Given the description of an element on the screen output the (x, y) to click on. 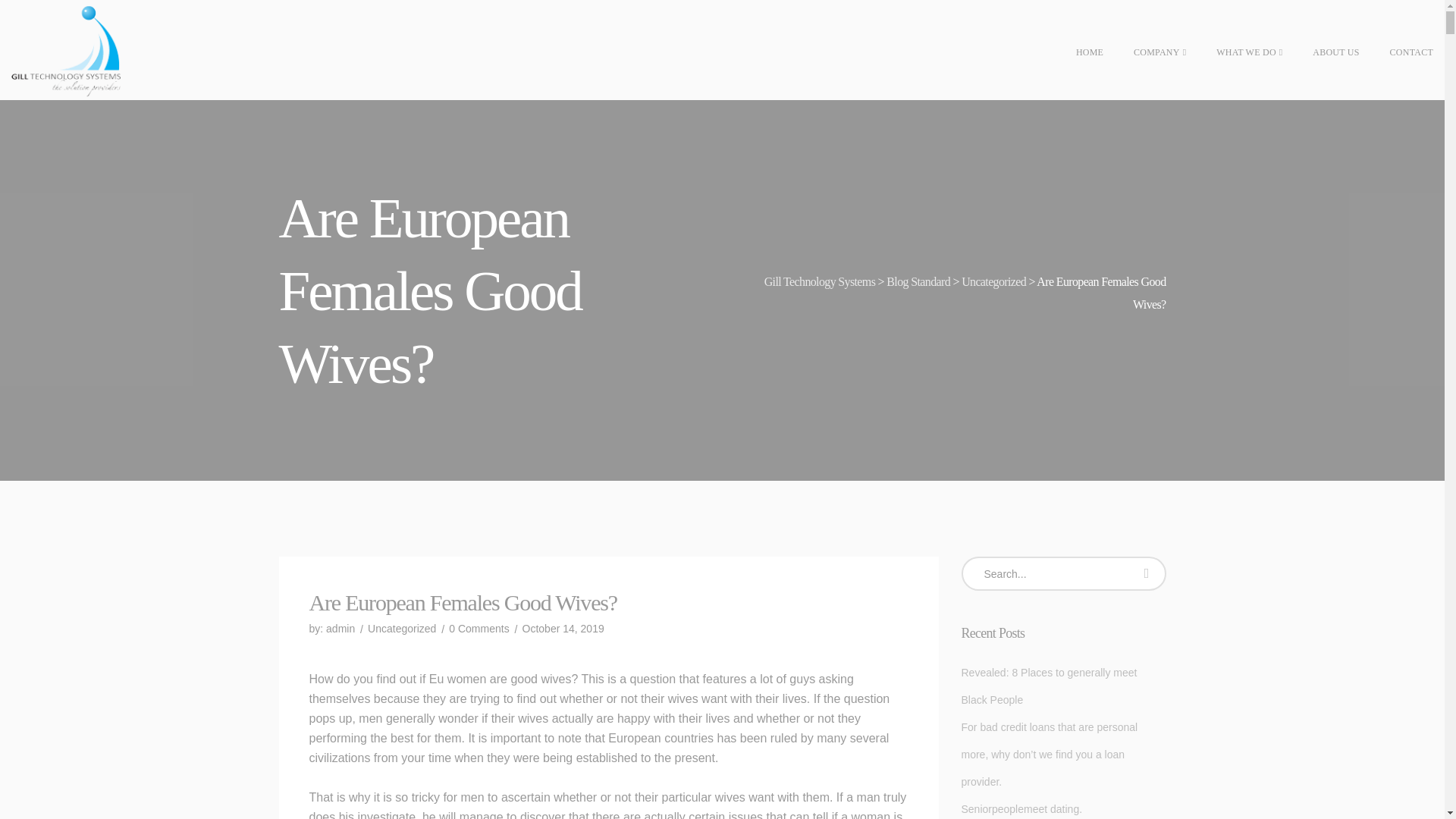
Revealed: 8 Places to generally meet Black People (1063, 686)
Posts by admin (340, 628)
Gill Technology Systems (820, 281)
COMPANY (1146, 52)
admin (340, 628)
CONTACT (1397, 52)
HOME (1075, 52)
ABOUT US (1321, 52)
WHAT WE DO (1235, 52)
Blog Standard (918, 281)
Uncategorized (401, 628)
Go to the Uncategorized category archives. (993, 281)
Go to Gill Technology Systems. (820, 281)
October 14, 2019 (563, 628)
0 Comments (478, 628)
